Given the description of an element on the screen output the (x, y) to click on. 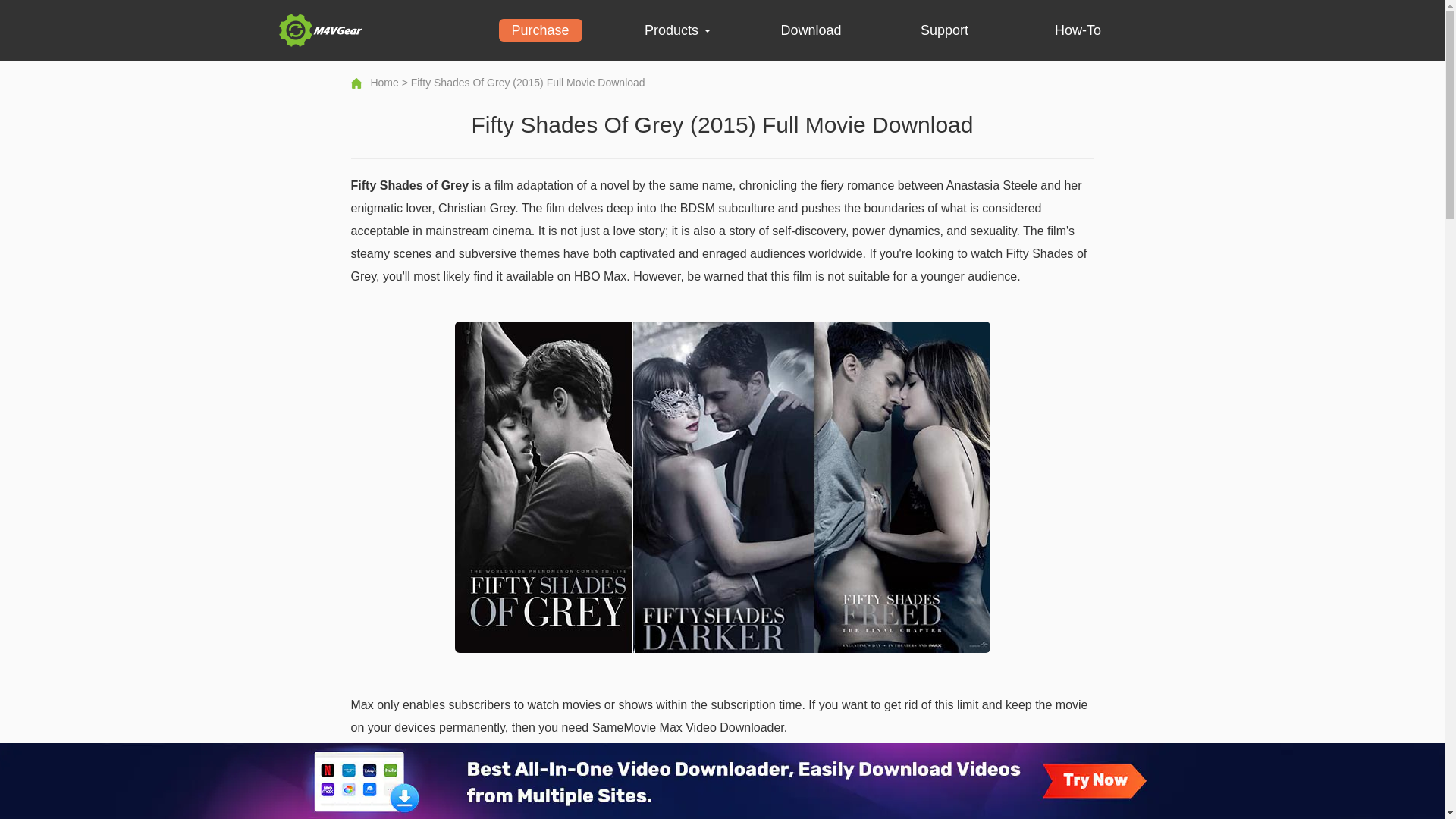
Purchase (540, 29)
Products (677, 30)
